Given the description of an element on the screen output the (x, y) to click on. 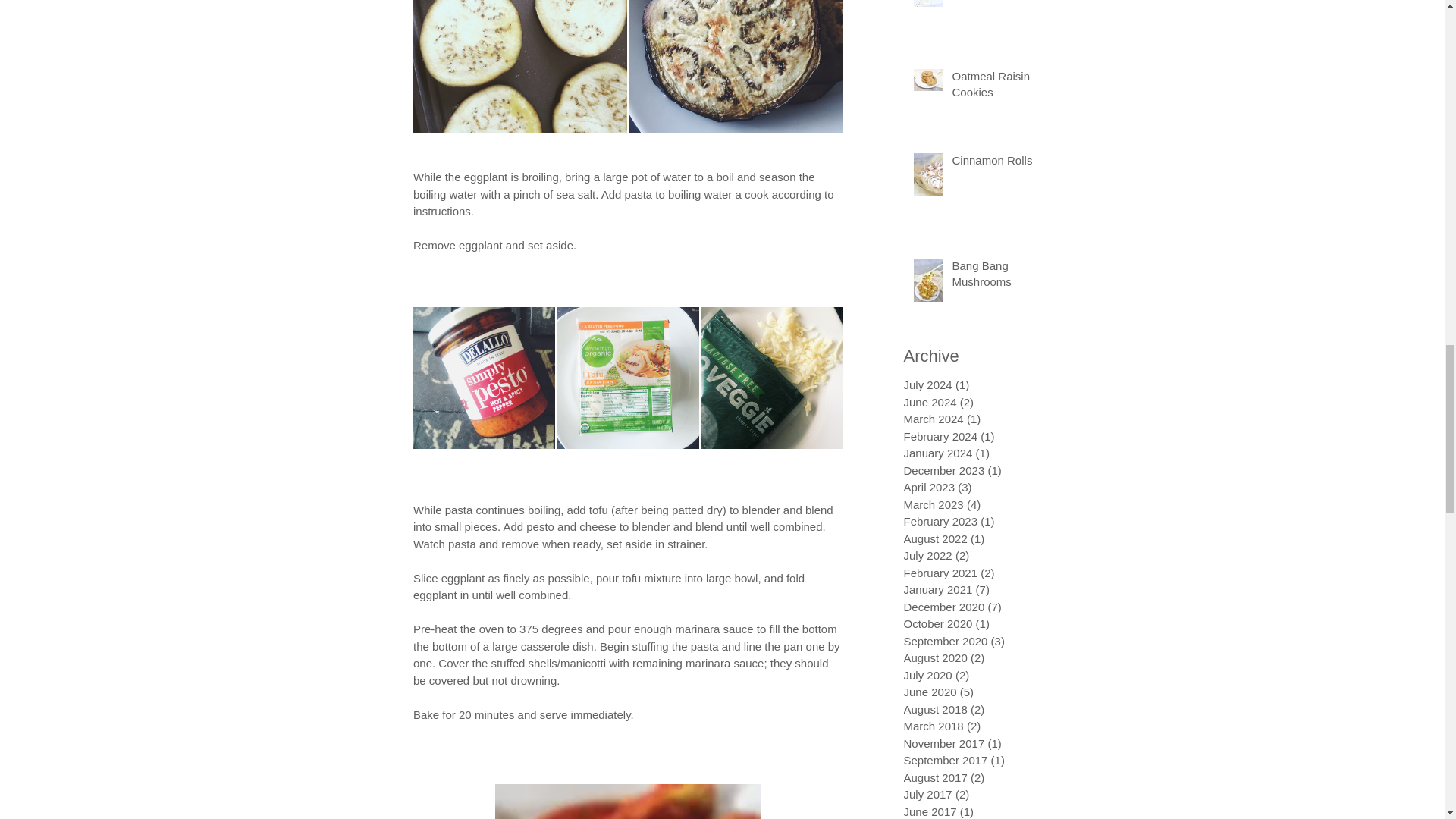
Cinnamon Rolls (1006, 163)
Bang Bang Mushrooms (1006, 276)
Oatmeal Raisin Cookies (1006, 86)
Jumbo Vegan Lump Crab Cake (1006, 2)
